Given the description of an element on the screen output the (x, y) to click on. 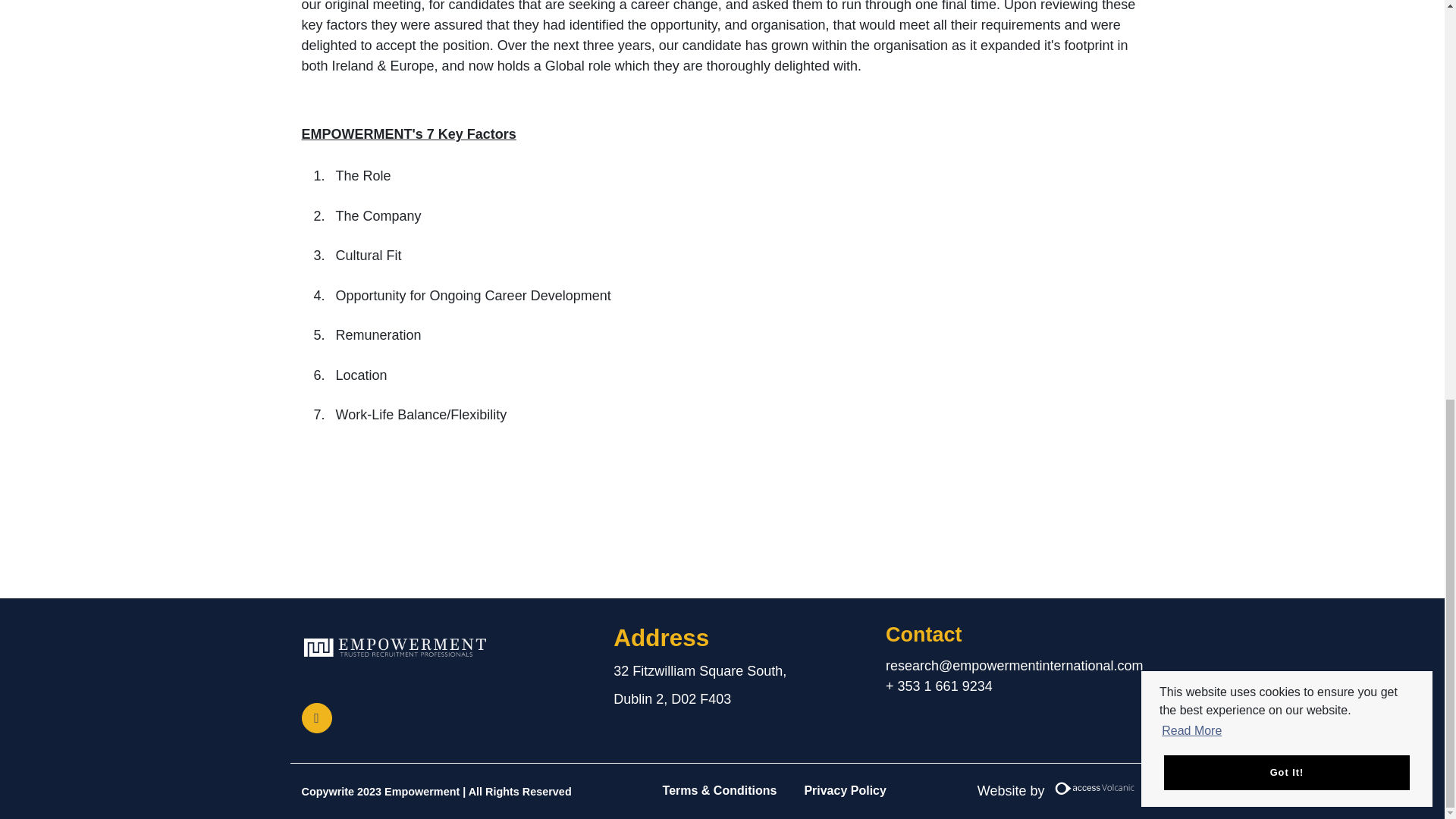
Got It! (1286, 5)
